Given the description of an element on the screen output the (x, y) to click on. 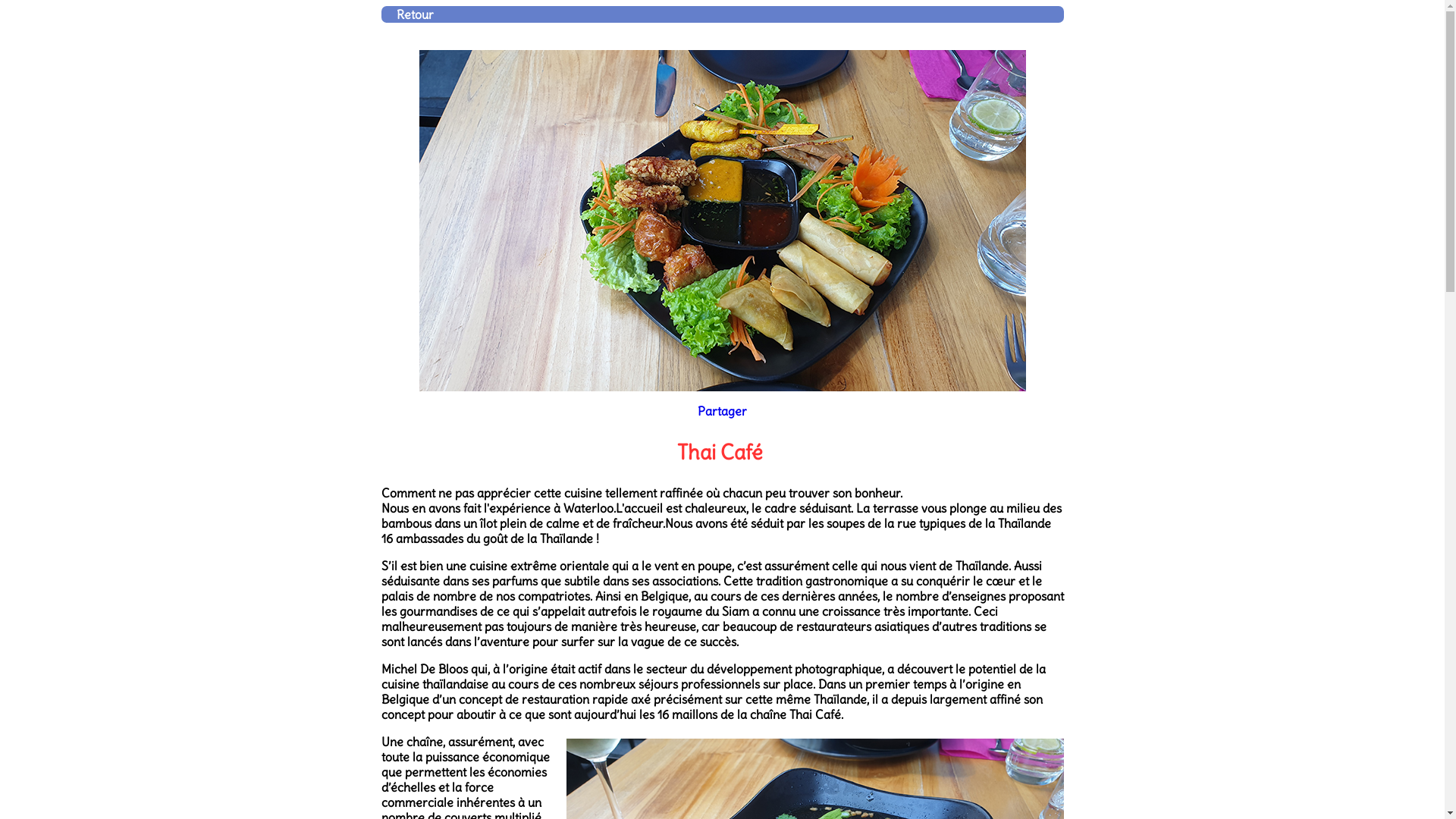
Retour Element type: text (414, 13)
Partager Element type: text (721, 410)
